Given the description of an element on the screen output the (x, y) to click on. 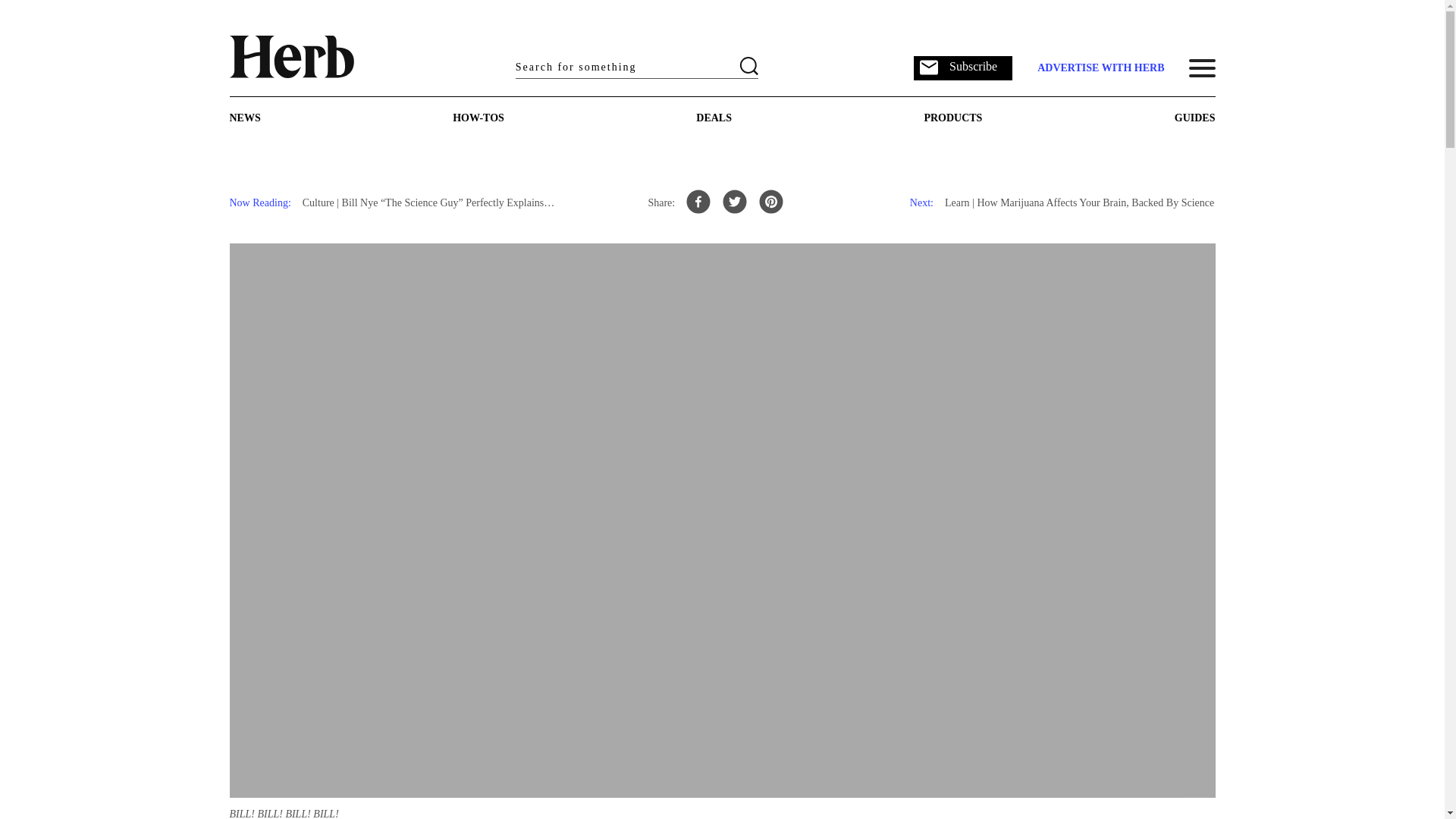
Subscribe (962, 67)
ADVERTISE WITH HERB (1099, 68)
